Given the description of an element on the screen output the (x, y) to click on. 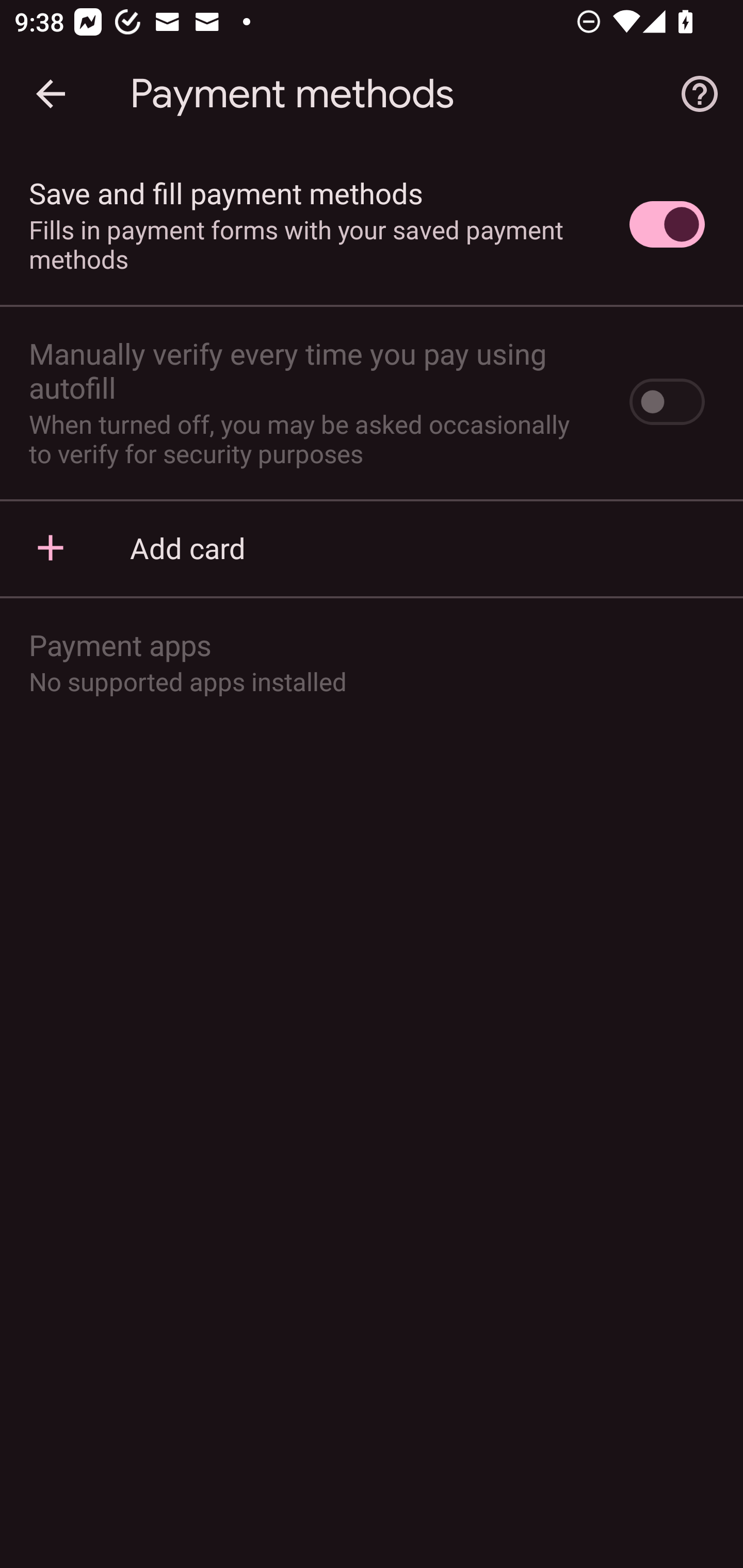
Navigate up (50, 93)
Help & feedback (699, 93)
Add card (371, 546)
Payment apps No supported apps installed (371, 661)
